Given the description of an element on the screen output the (x, y) to click on. 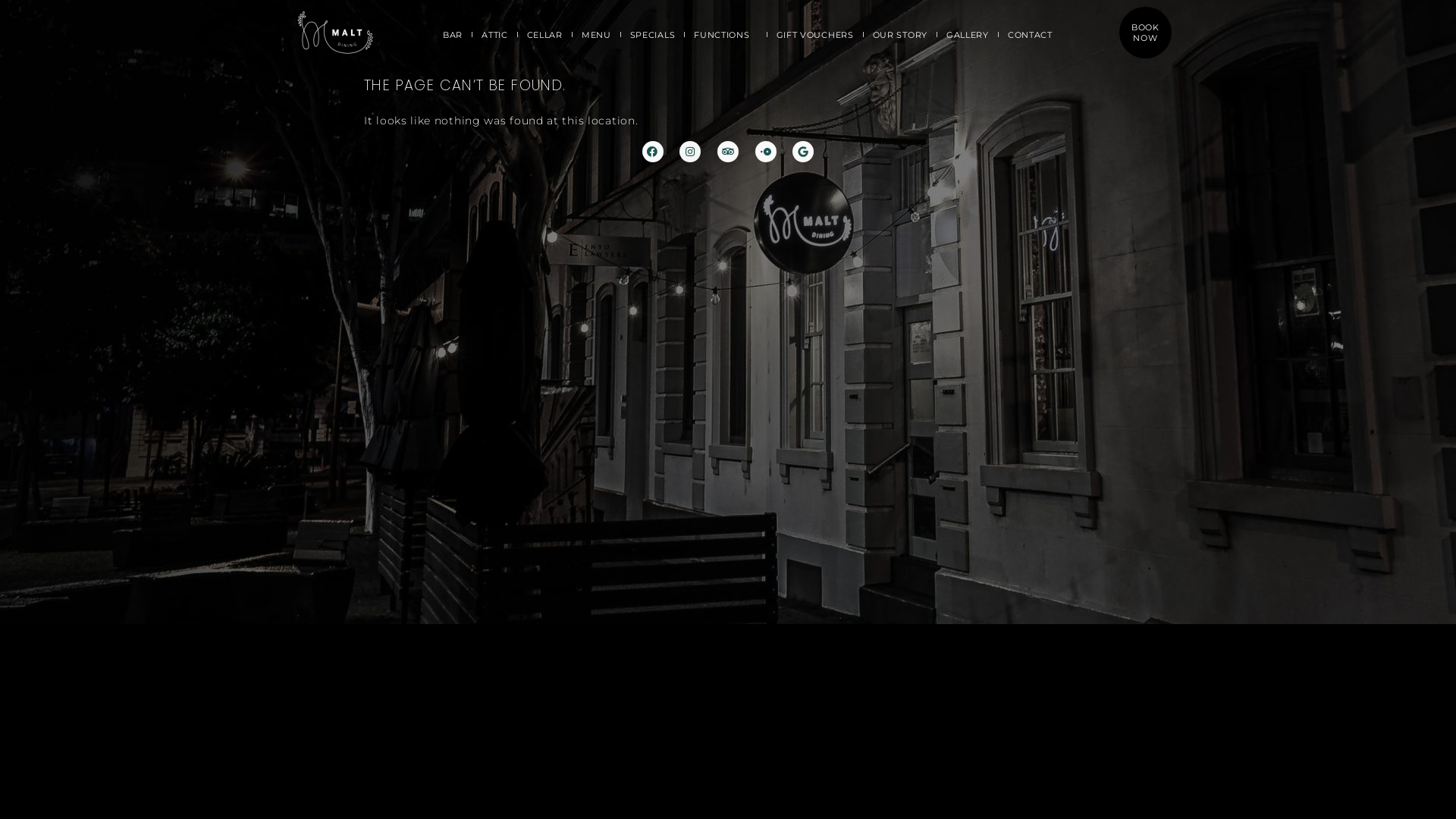
logo2.png Element type: hover (334, 32)
CONTACT Element type: text (1033, 34)
ATTIC Element type: text (494, 34)
GIFT VOUCHERS Element type: text (814, 34)
MENU Element type: text (596, 34)
BOOK
NOW Element type: text (1145, 32)
SPECIALS Element type: text (652, 34)
FUNCTIONS Element type: text (724, 34)
BAR Element type: text (452, 34)
CELLAR Element type: text (544, 34)
GALLERY Element type: text (967, 34)
OUR STORY Element type: text (899, 34)
